Given the description of an element on the screen output the (x, y) to click on. 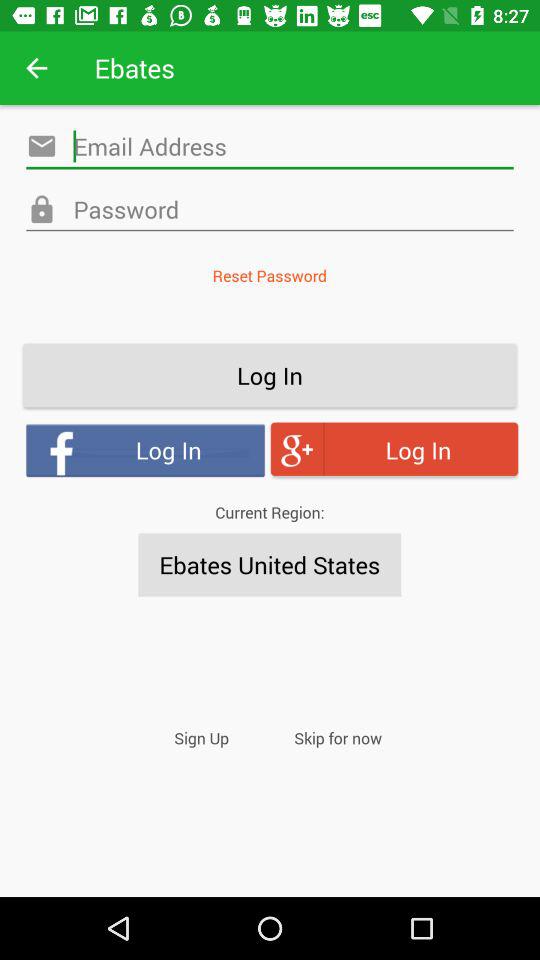
turn on the reset password item (269, 275)
